Given the description of an element on the screen output the (x, y) to click on. 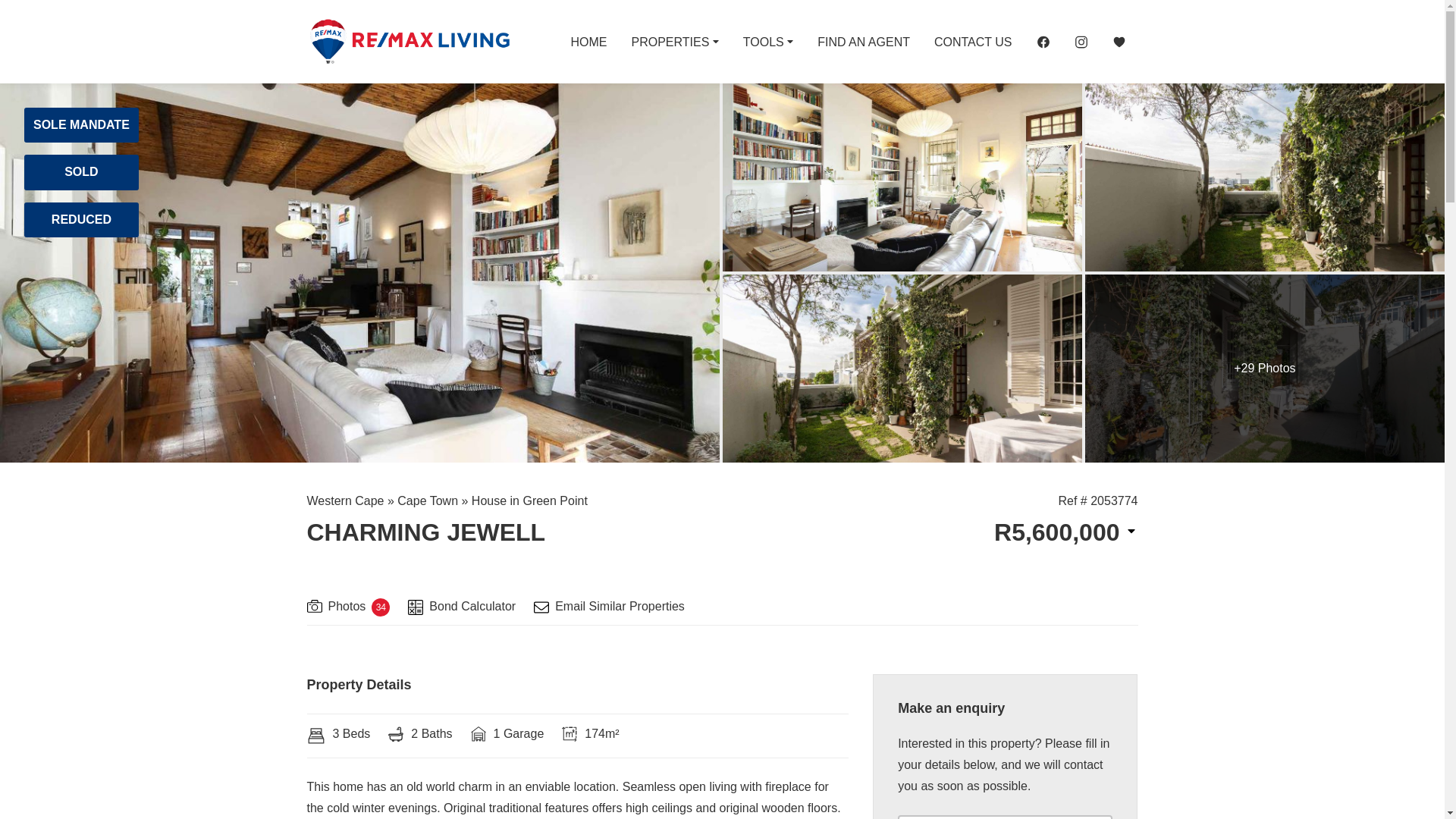
Bond Calculator (461, 608)
Facebook (1042, 41)
Property for sale and to rent Cape Town (408, 41)
HOME (587, 41)
INSTAGRAM (1080, 41)
FAVOURITES (1118, 41)
CONTACT US (973, 41)
Western Cape (344, 501)
Email Similar Properties (609, 608)
FIND AN AGENT (863, 41)
Currency converter (1065, 532)
House in Green Point (529, 501)
Favourites (1118, 41)
Cape Town (427, 501)
Instagram (1080, 41)
